Given the description of an element on the screen output the (x, y) to click on. 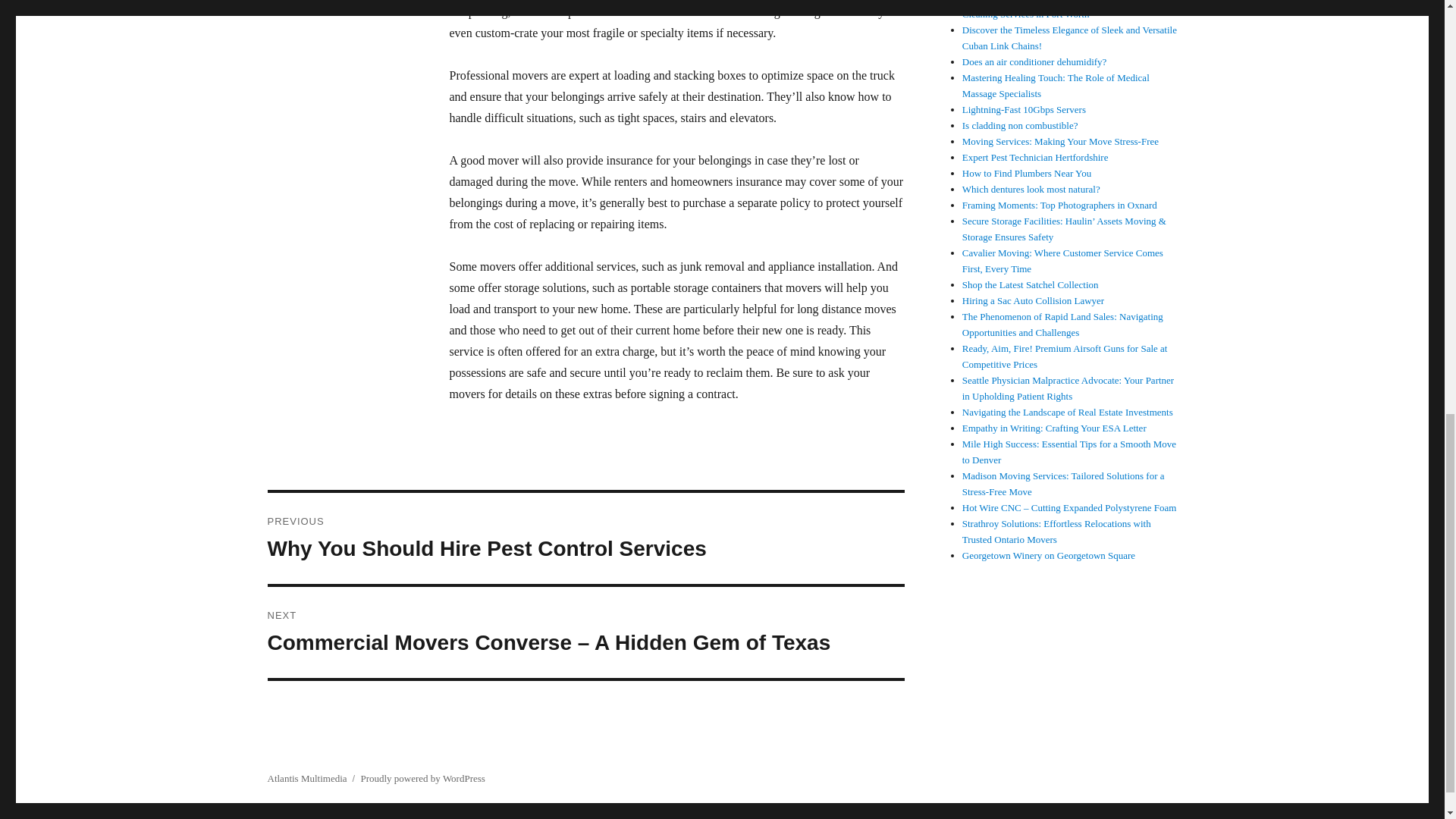
Is cladding non combustible? (1020, 125)
Lightning-Fast 10Gbps Servers (1024, 109)
Does an air conditioner dehumidify? (1034, 61)
